Given the description of an element on the screen output the (x, y) to click on. 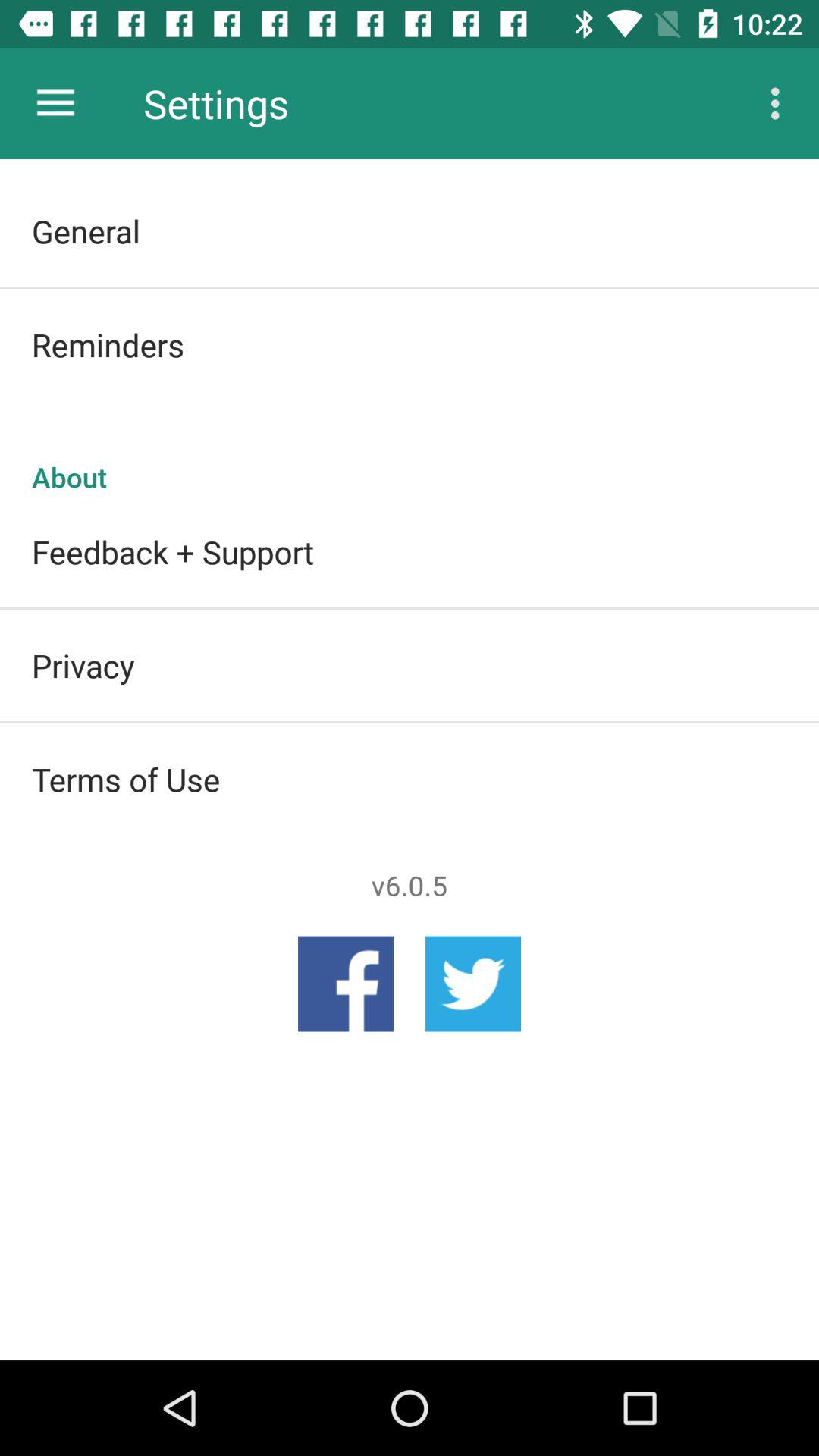
press app next to settings icon (55, 103)
